Given the description of an element on the screen output the (x, y) to click on. 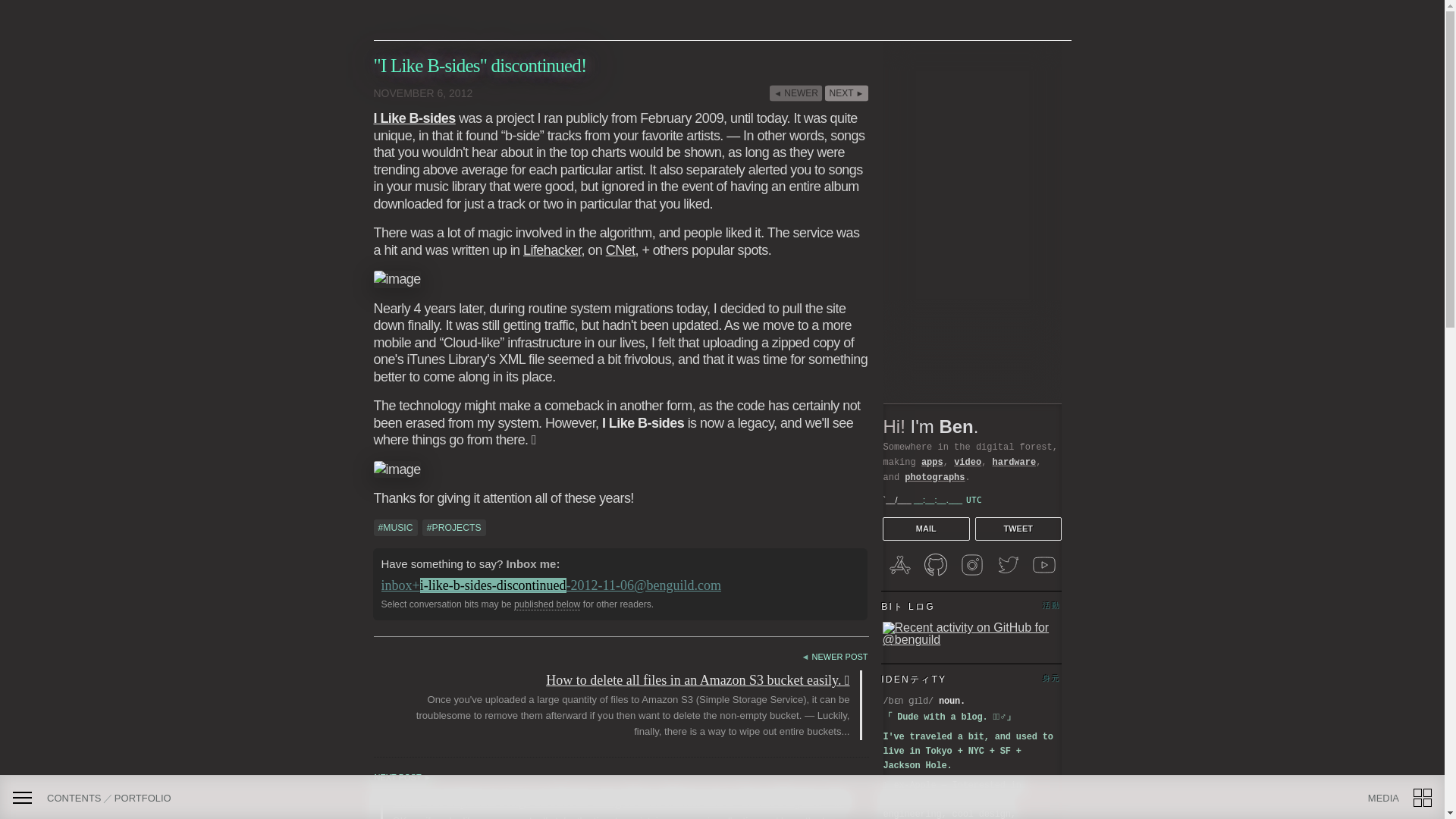
CNet (619, 249)
published below (546, 604)
I Like B-sides (413, 118)
Lifehacker (551, 249)
